Given the description of an element on the screen output the (x, y) to click on. 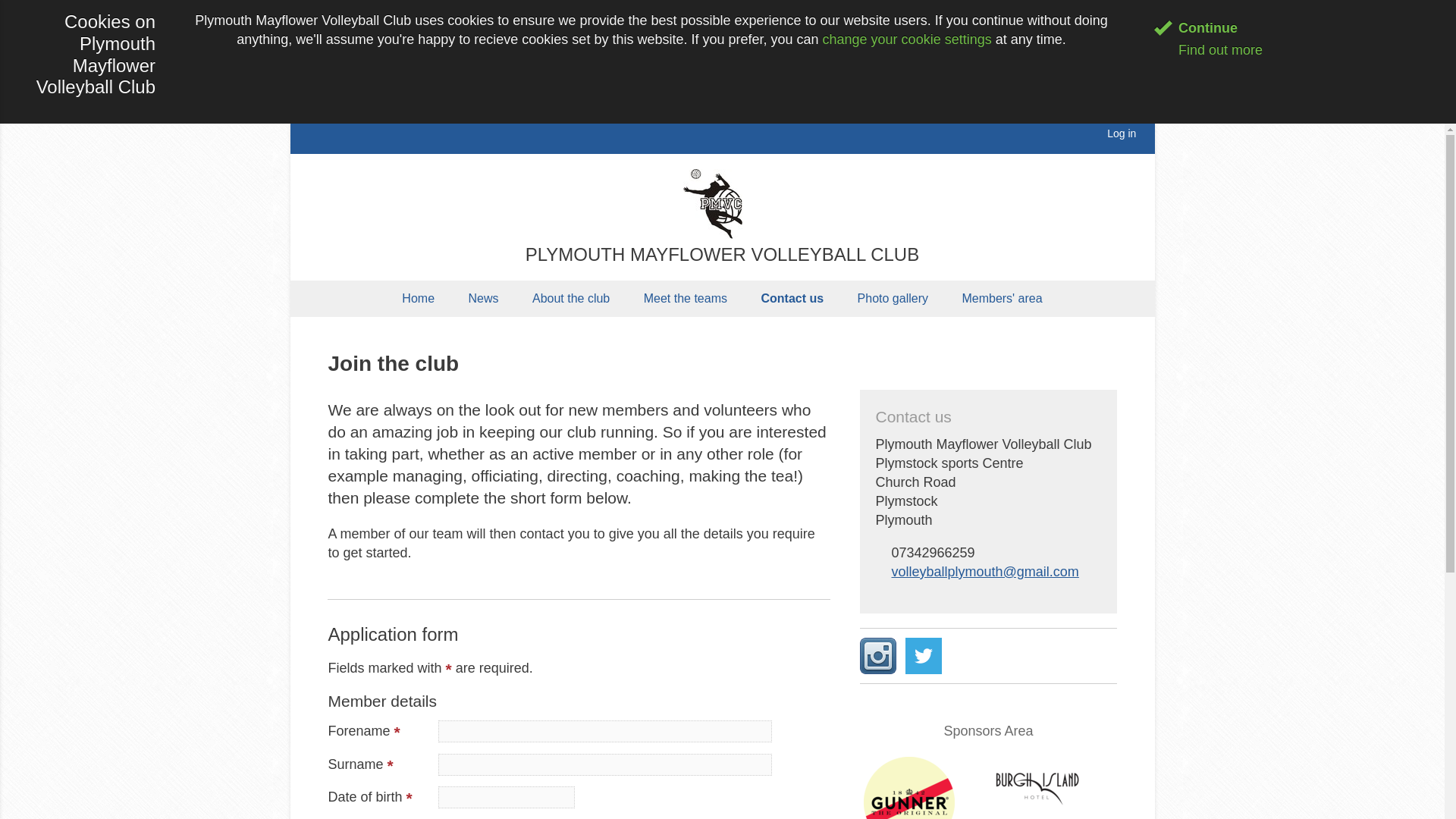
change your cookie settings (906, 38)
Follow us on Instagram (878, 656)
Continue (1195, 28)
Find out more (1208, 49)
Follow us on Twitter (923, 656)
